Given the description of an element on the screen output the (x, y) to click on. 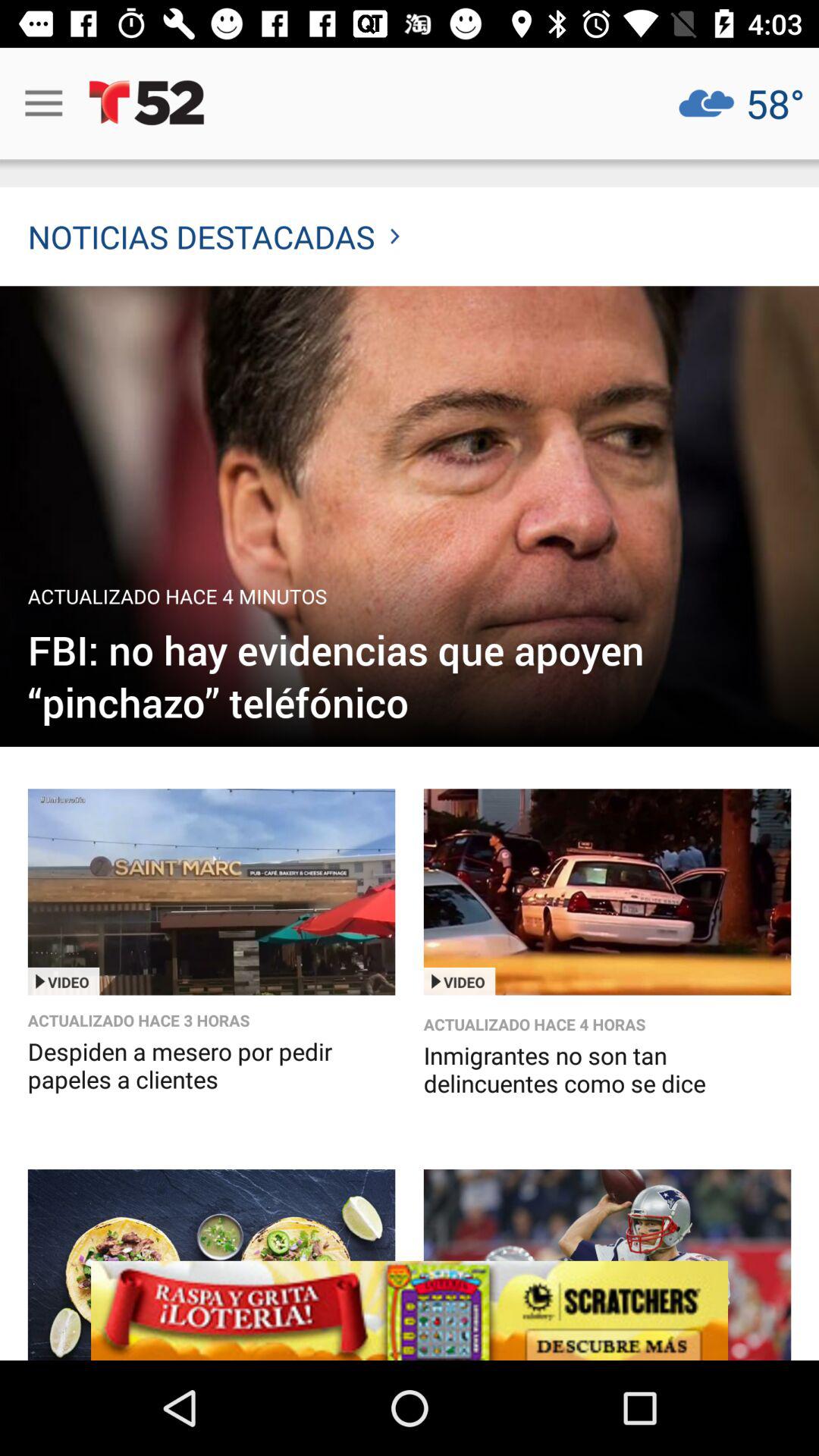
open the news page (409, 516)
